Given the description of an element on the screen output the (x, y) to click on. 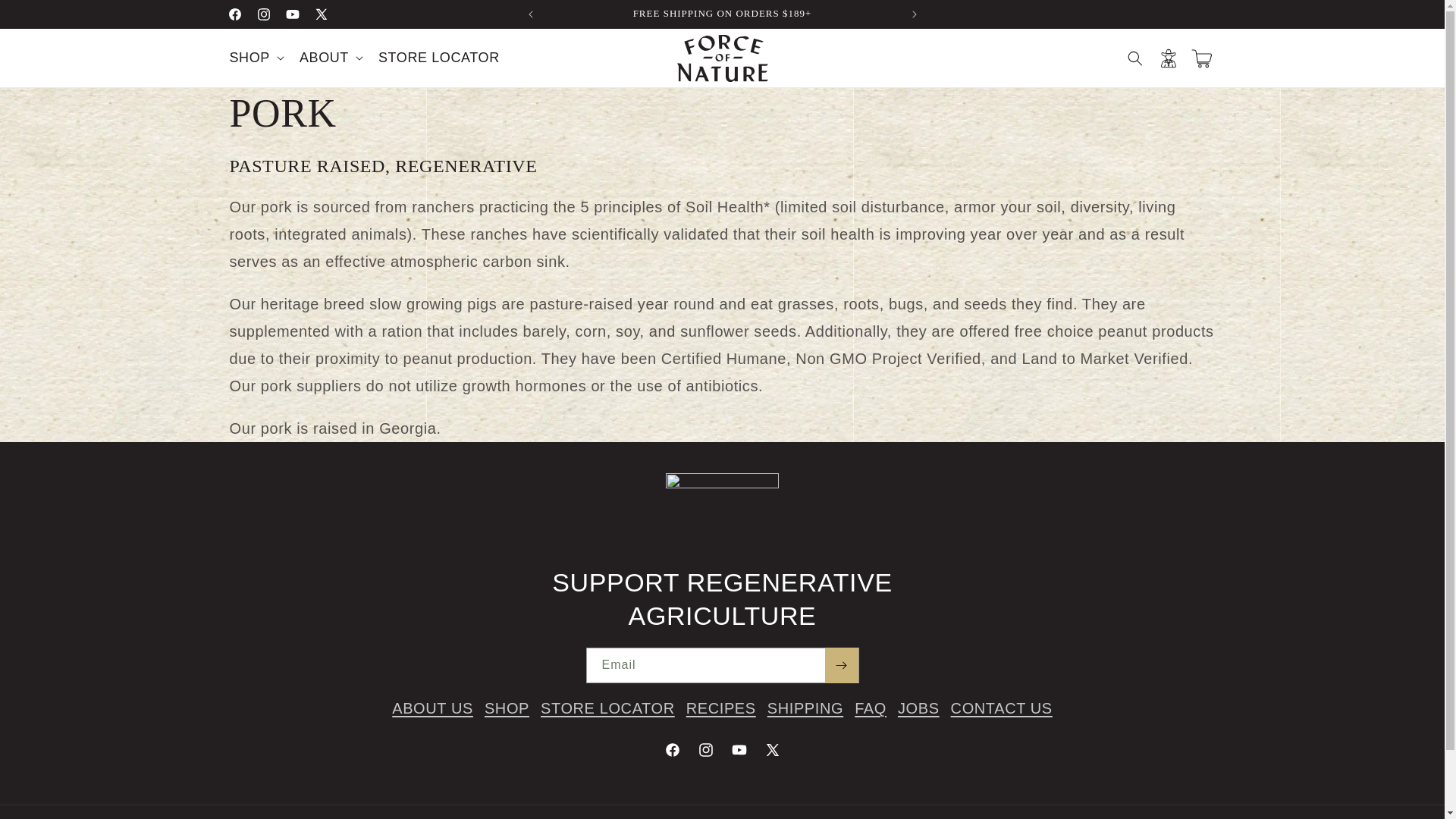
Facebook (233, 14)
TRY OUR NEW MEATBALLS! (1078, 14)
Instagram (263, 14)
YouTube (291, 14)
